Given the description of an element on the screen output the (x, y) to click on. 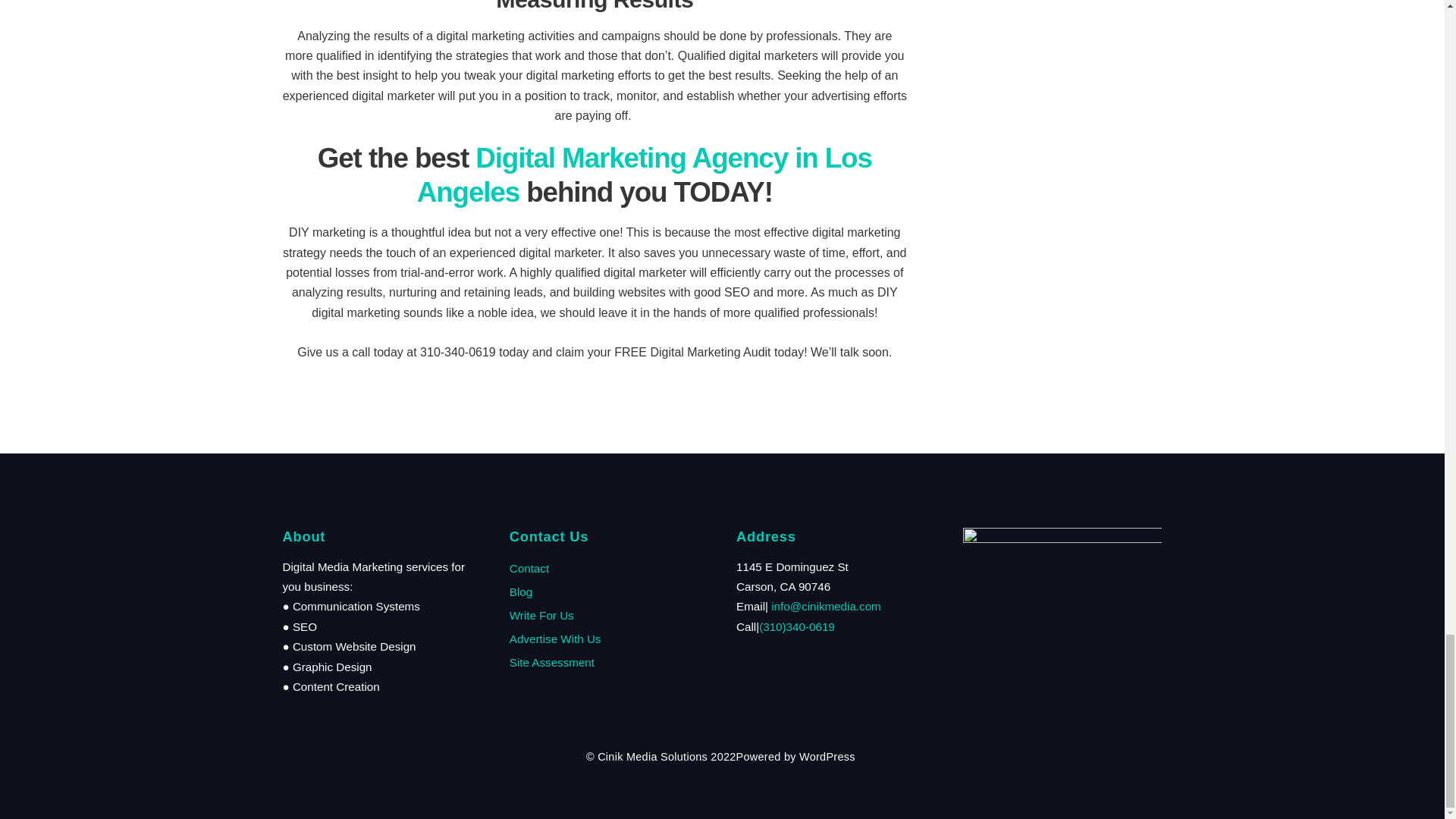
Blog (520, 591)
Contact (528, 567)
Digital Marketing Agency in Los Angeles (644, 174)
Site Assessment (551, 662)
Advertise With Us (555, 638)
Write For Us (541, 615)
